Given the description of an element on the screen output the (x, y) to click on. 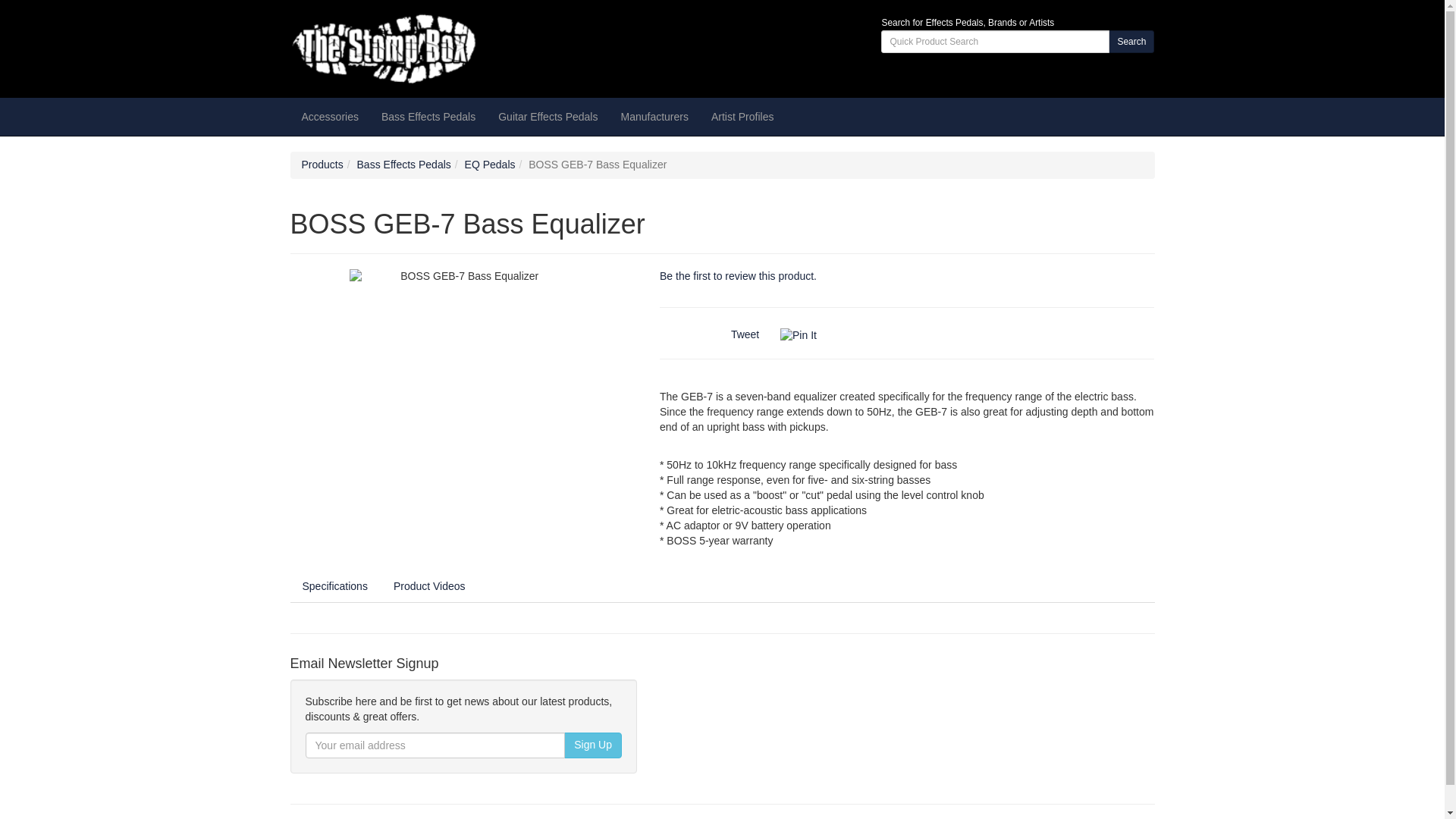
Pin It (798, 335)
Guitar Effects Pedals (547, 116)
Manufacturers (653, 116)
Accessories (329, 116)
Bass Effects Pedals (427, 116)
Artist Profiles (742, 116)
Search (1131, 41)
Guitar Effects Pedals (547, 116)
Accessories (329, 116)
Bass Effects Pedals (427, 116)
TheStompBox.co.uk Homepage (425, 48)
Search (1131, 41)
Sign Up (592, 745)
